Given the description of an element on the screen output the (x, y) to click on. 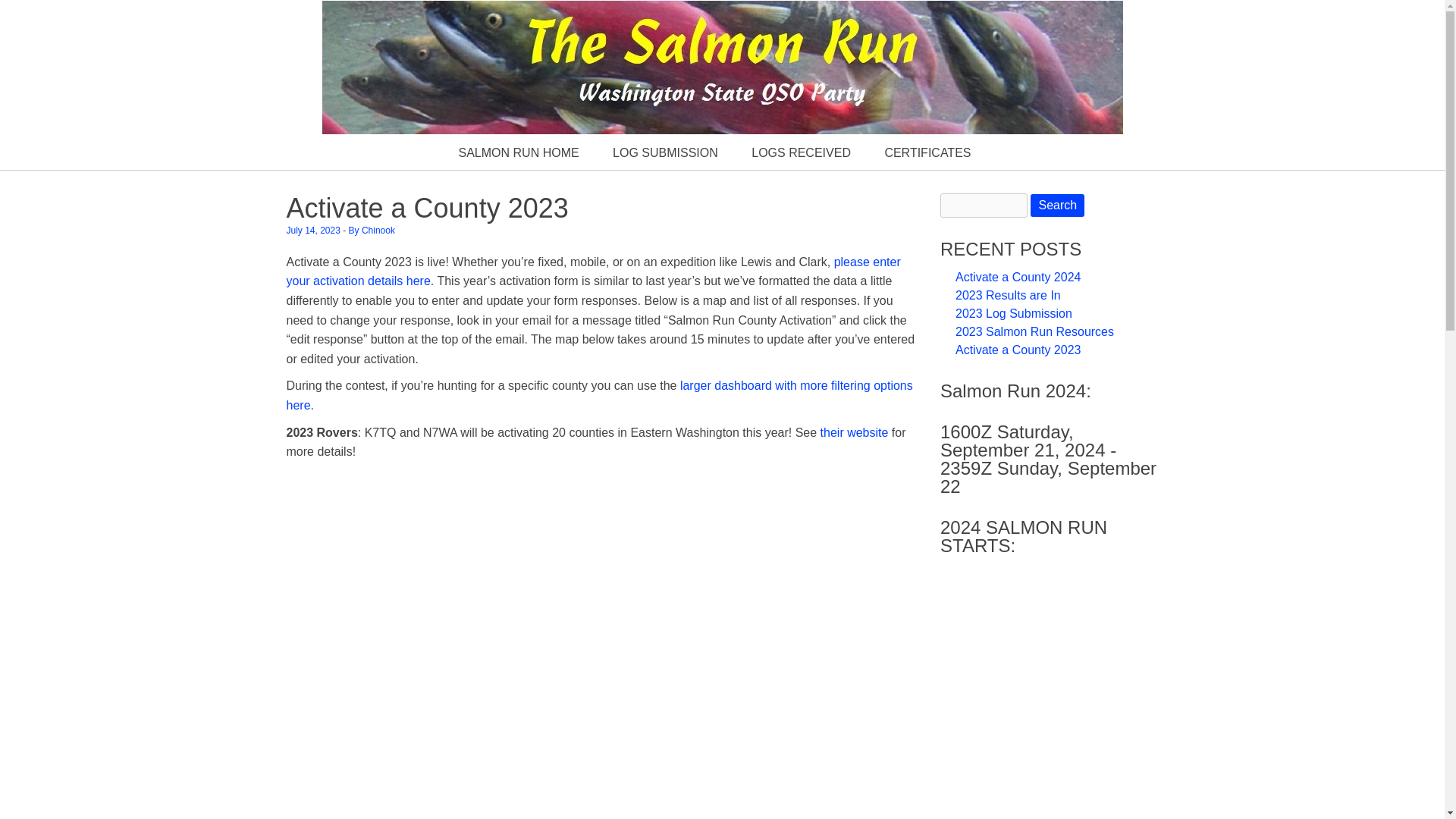
July 14, 2023 (313, 230)
their website (854, 431)
LOGS RECEIVED (801, 152)
CERTIFICATES (927, 152)
LOG SUBMISSION (665, 152)
Activate a County 2024 (1017, 277)
Search (1057, 205)
Activate a County 2023 (1017, 349)
Skip to content (326, 141)
SALMON RUN HOME (517, 152)
